Given the description of an element on the screen output the (x, y) to click on. 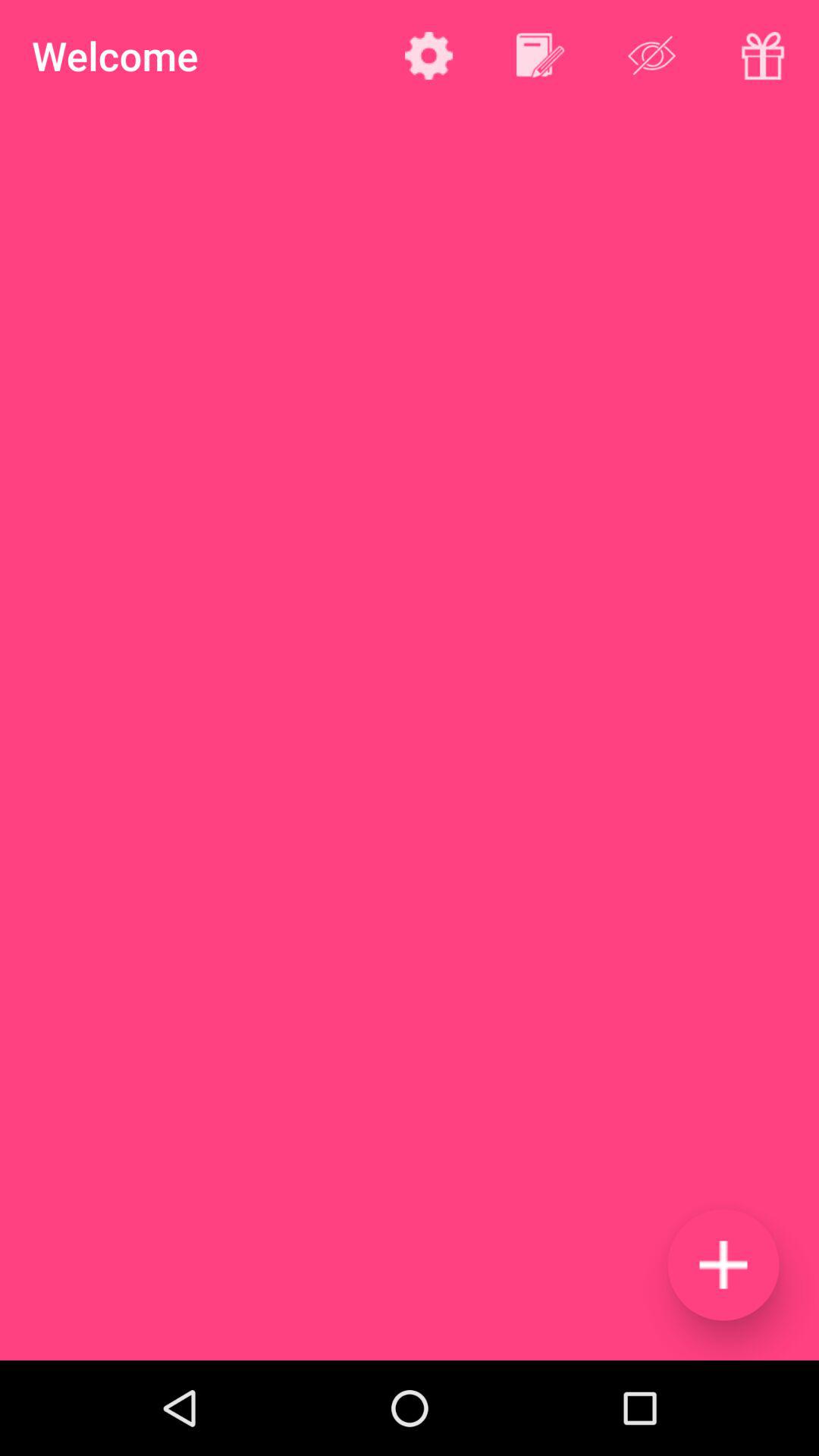
hide information (651, 55)
